Given the description of an element on the screen output the (x, y) to click on. 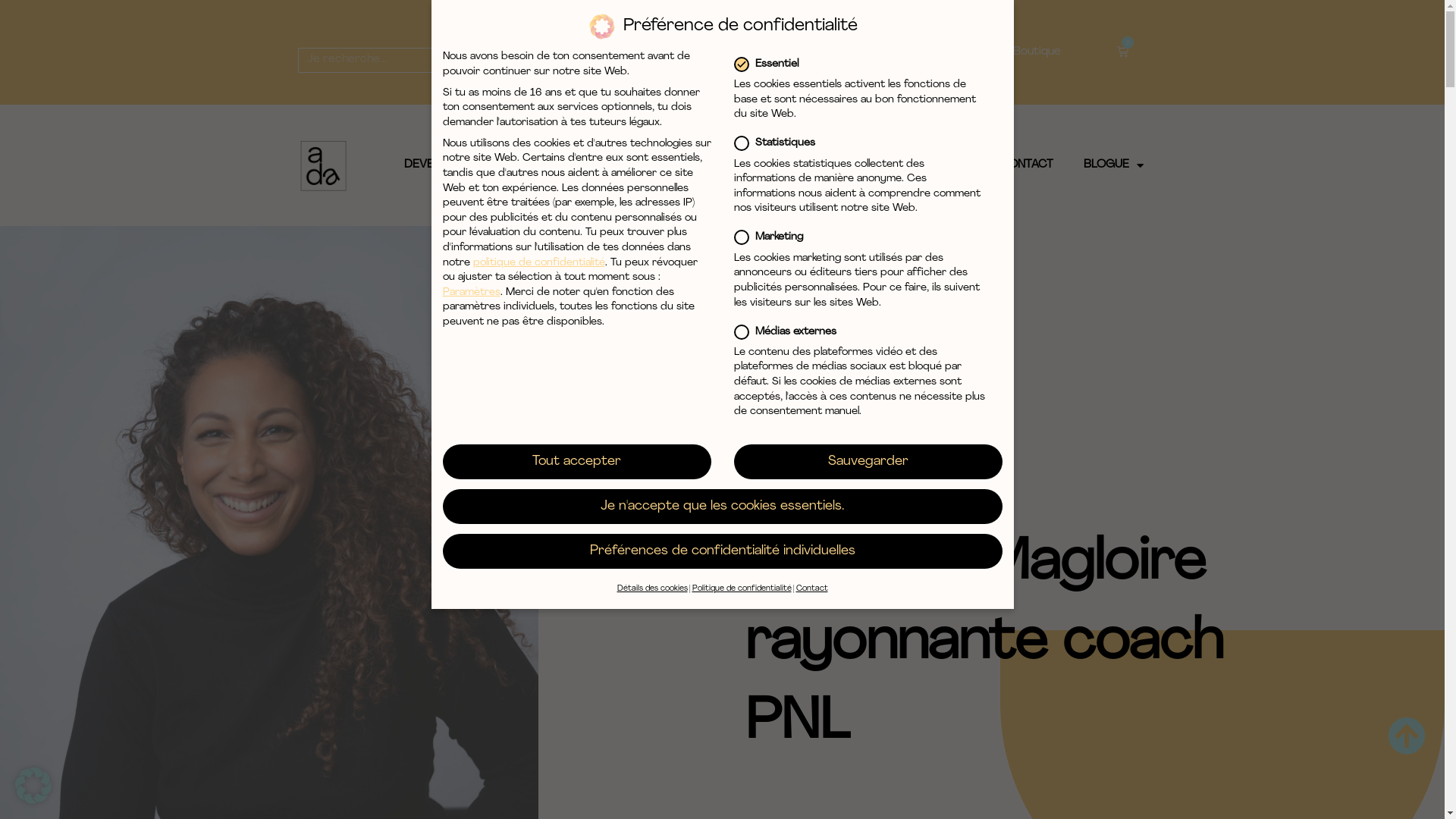
CONTACT Element type: text (1026, 164)
Connexion Element type: text (788, 52)
Open Cookie Preferences Element type: hover (33, 800)
REVUE Element type: text (880, 164)
Contact Element type: text (812, 588)
Mon compte ada Element type: text (937, 51)
Je n'accepte que les cookies essentiels. Element type: text (722, 506)
OUTILS Element type: text (567, 164)
0 Element type: text (1122, 52)
ada Element type: text (871, 510)
DEVENIR AUTONOME Element type: text (461, 164)
Boutique Element type: text (1036, 51)
ACCOMPAGNEMENT Element type: text (672, 164)
Sauvegarder Element type: text (868, 461)
Tout accepter Element type: text (576, 461)
BLOGUE Element type: text (1113, 164)
Garde-manger Element type: text (648, 53)
